Given the description of an element on the screen output the (x, y) to click on. 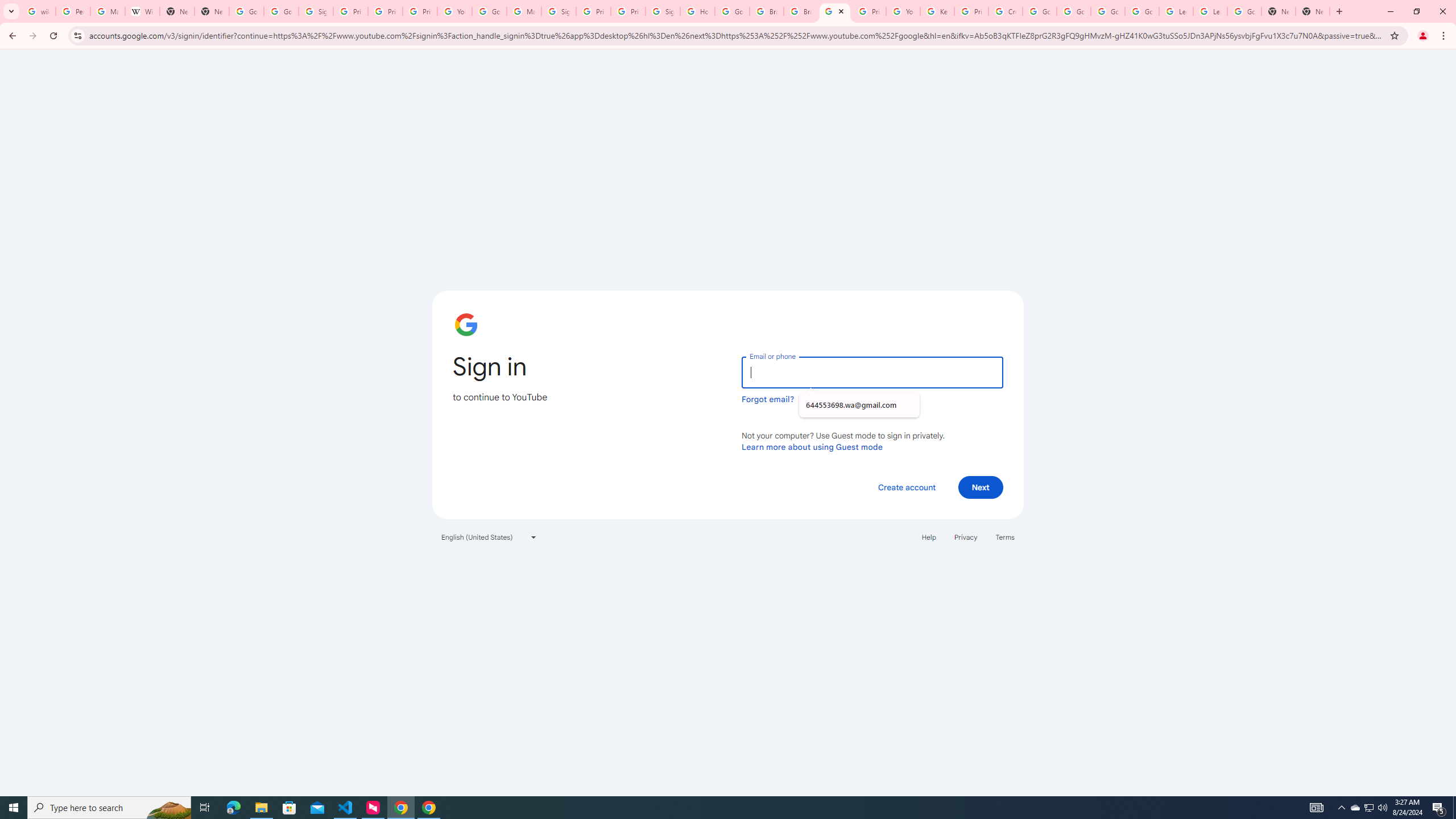
Forgot email? (767, 398)
Sign in - Google Accounts (315, 11)
644553698.wa@gmail.com (858, 404)
Google Drive: Sign-in (281, 11)
Personalization & Google Search results - Google Search Help (73, 11)
Create your Google Account (1004, 11)
New Tab (1278, 11)
Email or phone (871, 372)
